Given the description of an element on the screen output the (x, y) to click on. 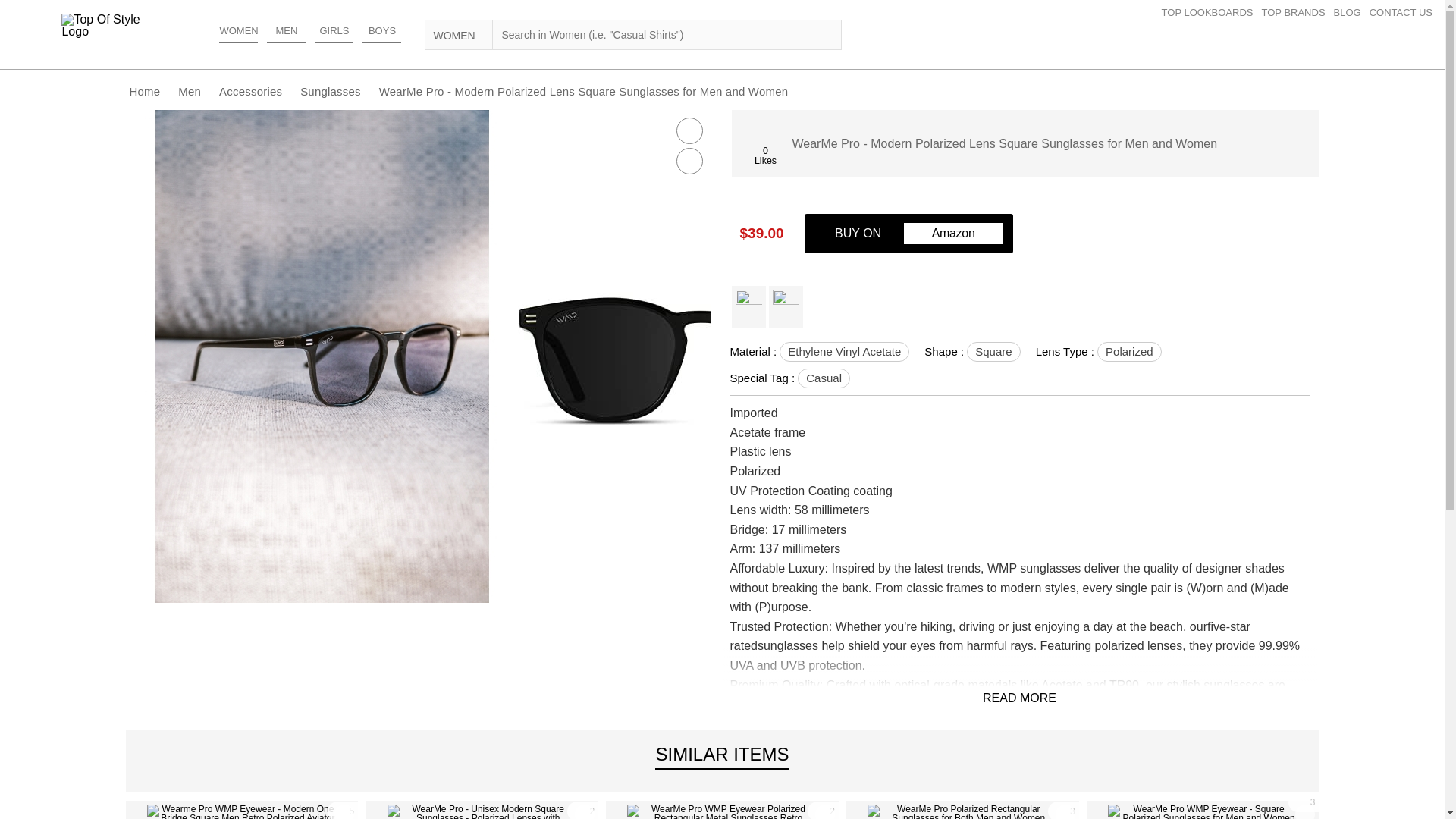
Accessories (249, 91)
TOP BRANDS (1297, 12)
2 (582, 810)
Polarized (1129, 351)
2 (823, 810)
Casual (823, 378)
3 (1303, 802)
Square (993, 351)
